Given the description of an element on the screen output the (x, y) to click on. 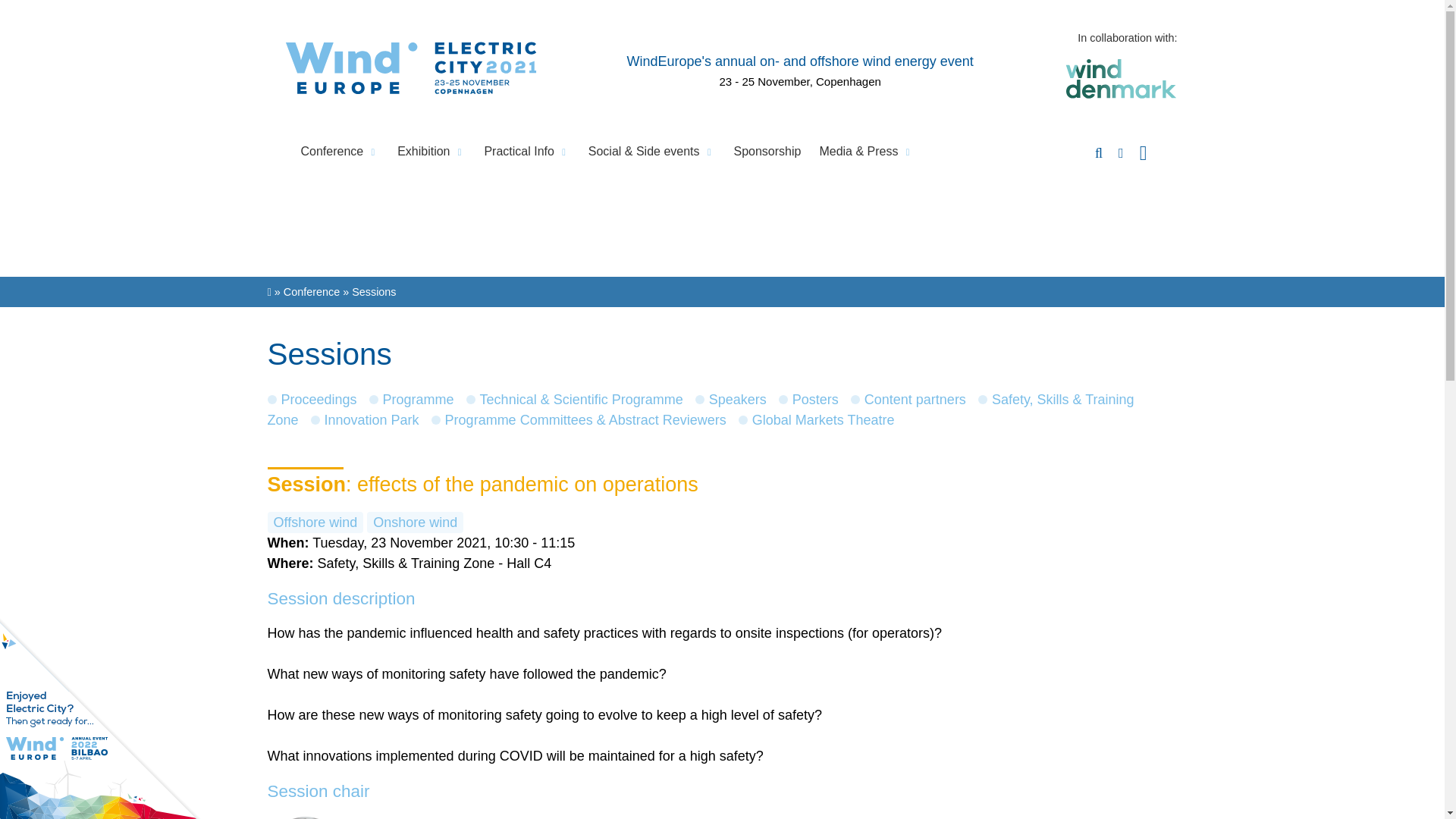
Find out more about the event (799, 61)
Click here to visit the website (107, 613)
Find out more about the venue (799, 81)
